Given the description of an element on the screen output the (x, y) to click on. 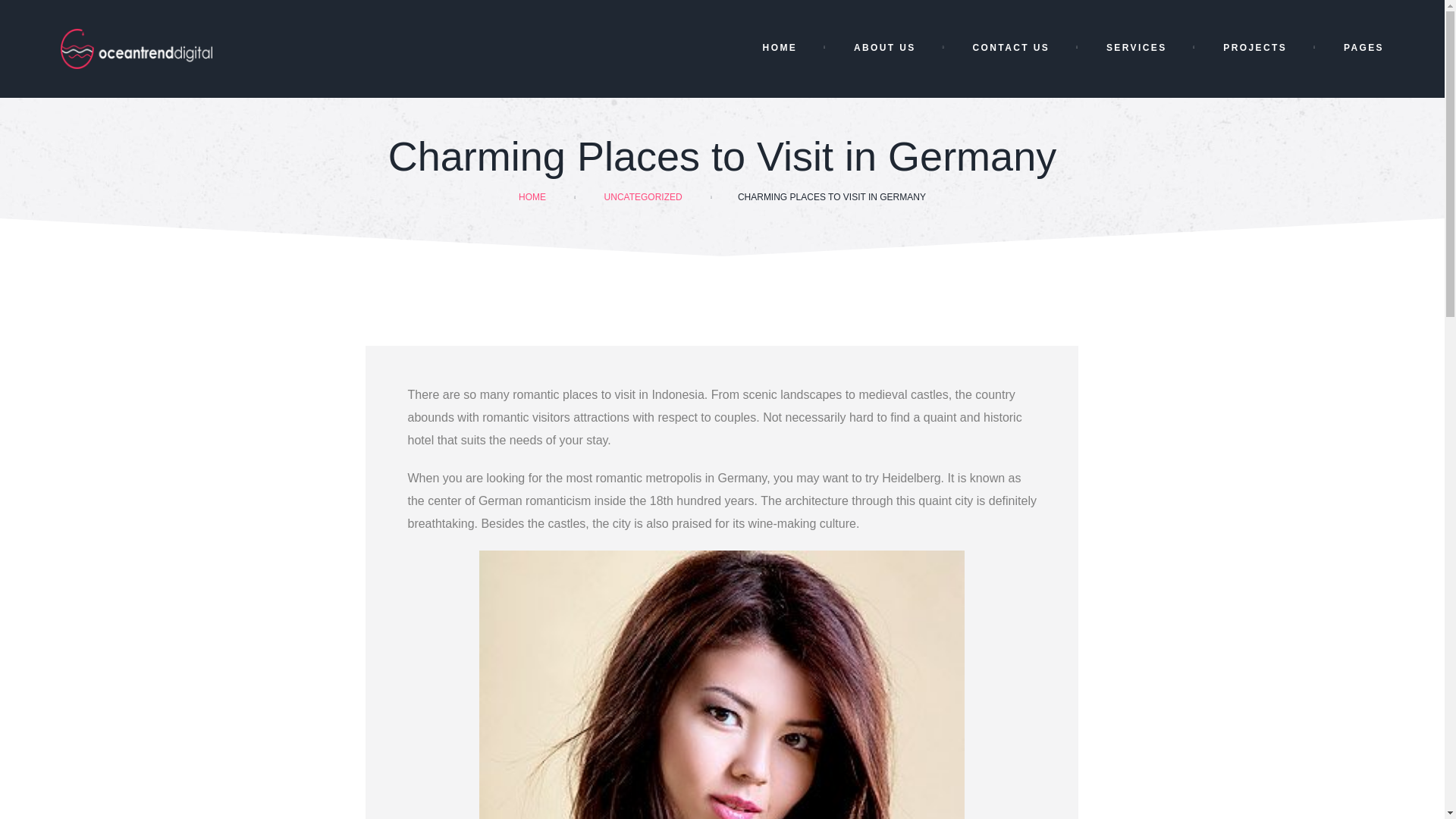
ABOUT US (885, 48)
HOME (781, 48)
SERVICES (1138, 48)
CONTACT US (1012, 48)
